Given the description of an element on the screen output the (x, y) to click on. 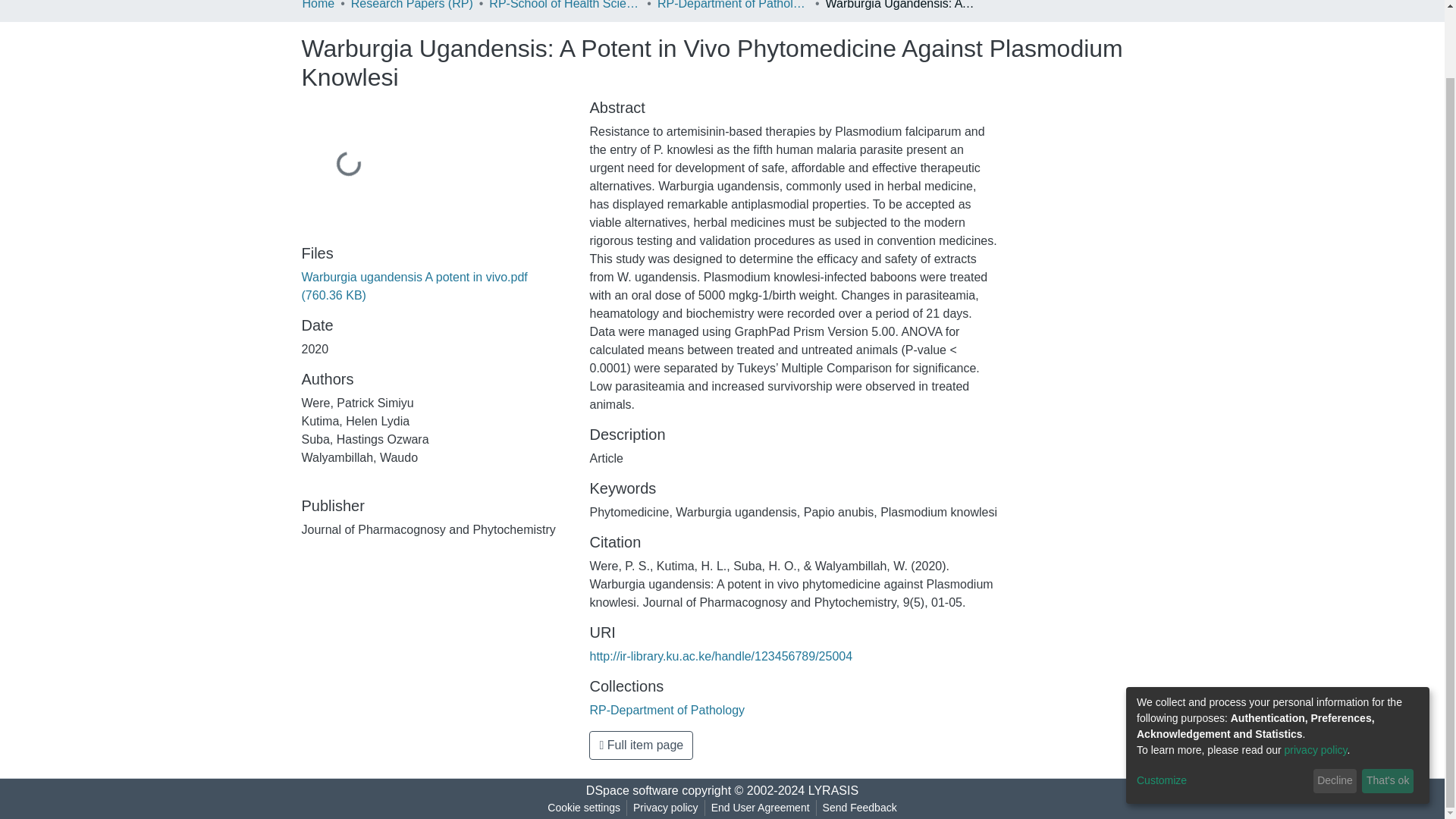
Home (317, 6)
Send Feedback (859, 807)
RP-School of Health Sciences (564, 6)
RP-Department of Pathology (666, 709)
Privacy policy (665, 807)
End User Agreement (759, 807)
LYRASIS (833, 789)
DSpace software (632, 789)
Cookie settings (583, 807)
privacy policy (1316, 674)
Customize (1222, 705)
That's ok (1387, 705)
Decline (1334, 705)
RP-Department of Pathology (733, 6)
Full item page (641, 745)
